Given the description of an element on the screen output the (x, y) to click on. 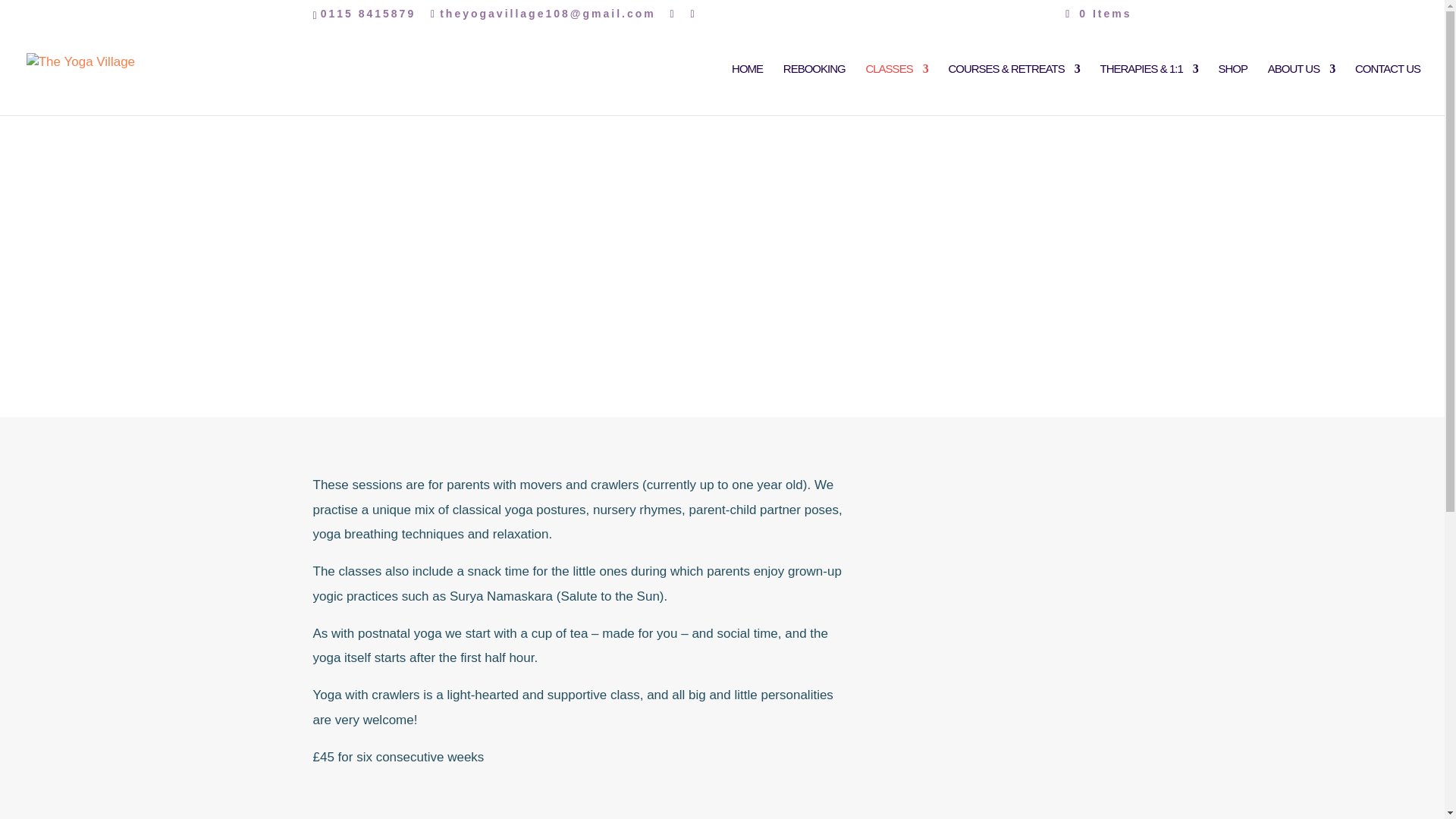
0 Items (1098, 13)
REBOOKING (814, 89)
CLASSES (895, 89)
ABOUT US (1301, 89)
